Given the description of an element on the screen output the (x, y) to click on. 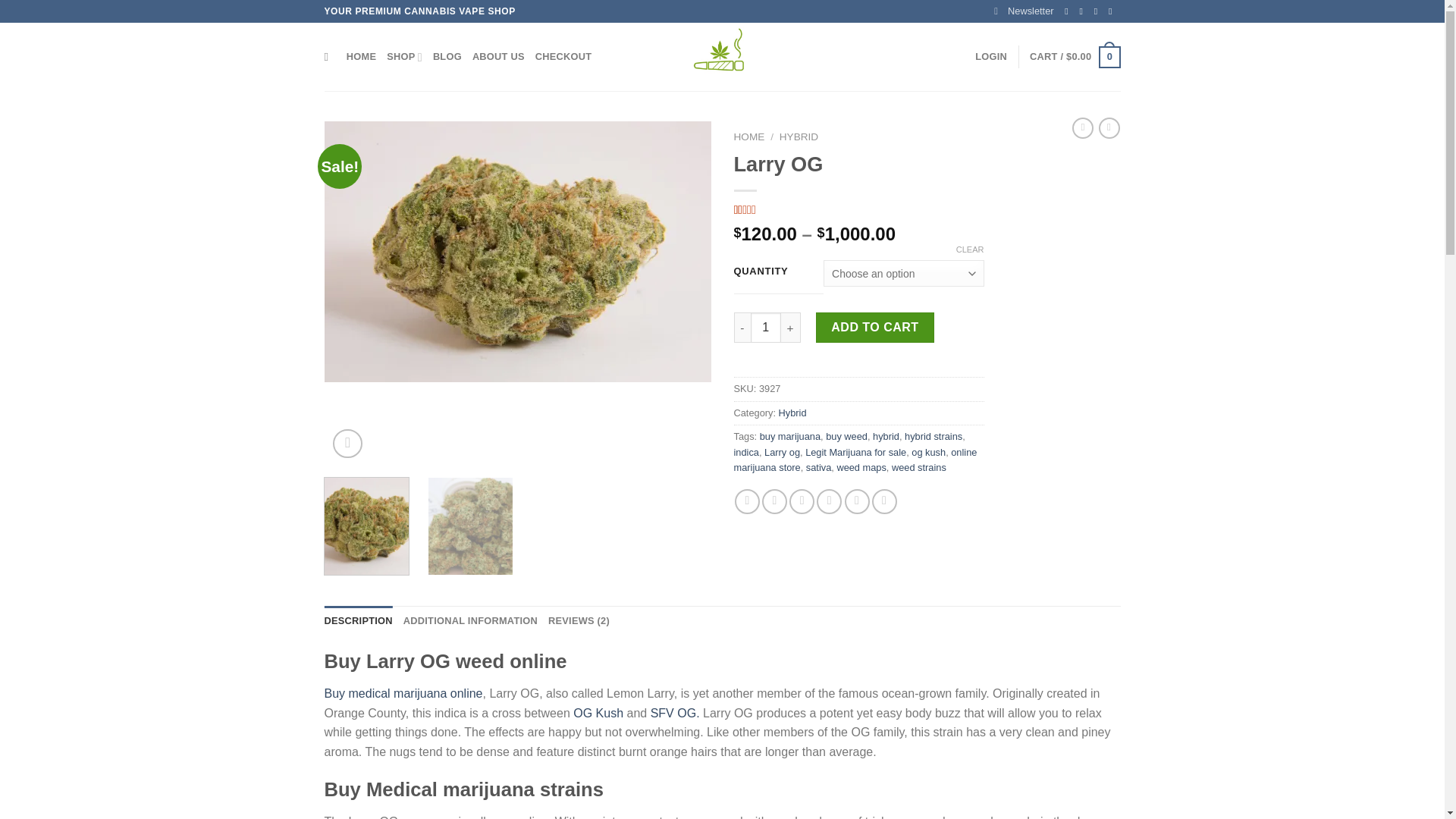
HOME (360, 56)
Cart (1074, 57)
Newsletter (1023, 11)
LOGIN (991, 56)
Sign up for Newsletter (1023, 11)
Zoom (347, 443)
Legal Canna Vapes - Buy Cannabis V Online (721, 56)
CHECKOUT (563, 56)
BLOG (446, 56)
larry-og-600x534-1.jpg (904, 293)
ABOUT US (497, 56)
buy medical marijuana (517, 251)
SHOP (404, 56)
1 (765, 327)
